Given the description of an element on the screen output the (x, y) to click on. 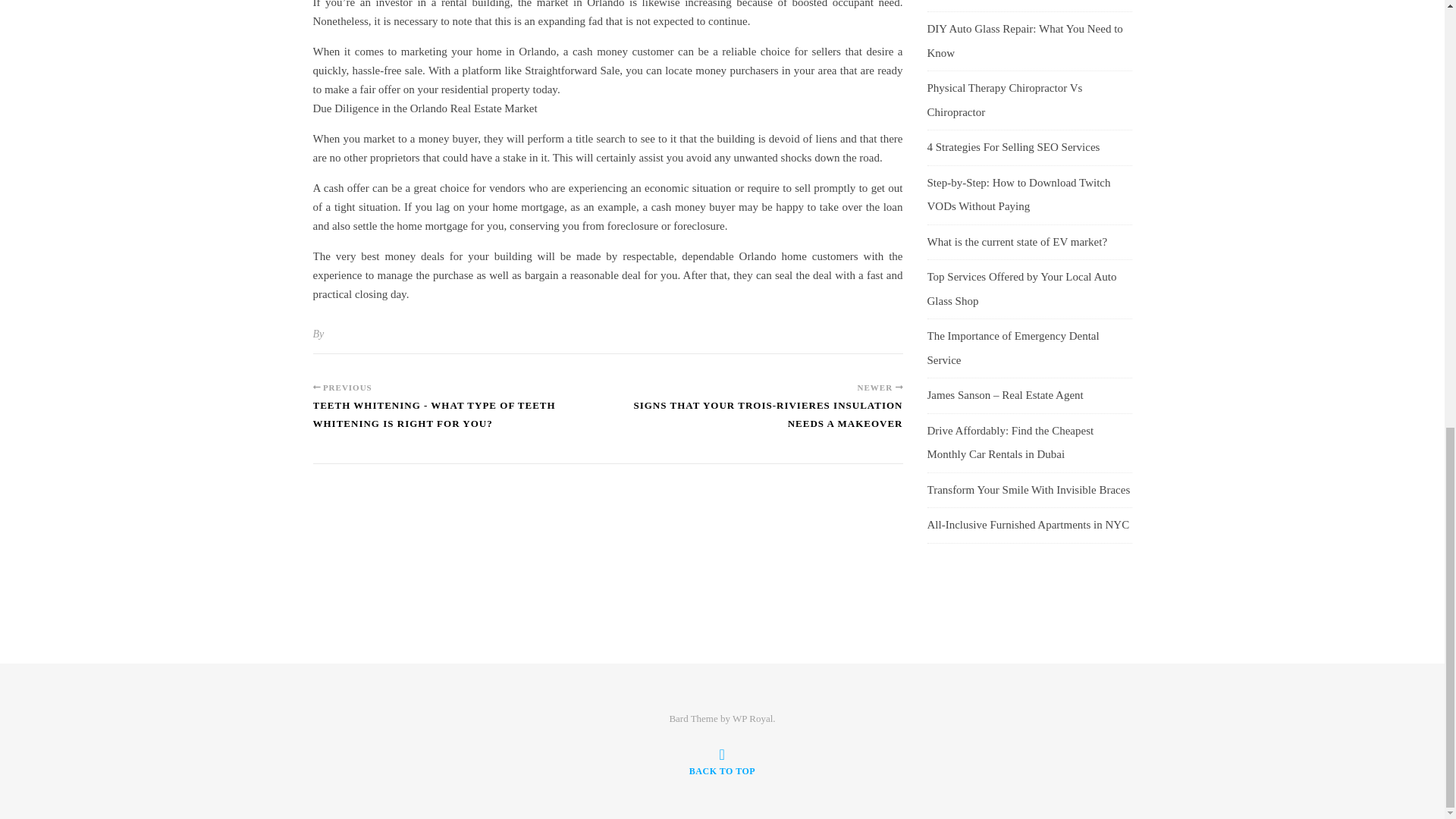
WP Royal (752, 717)
Signs That Your Trois-Rivieres Insulation Needs a Makeover (755, 421)
SIGNS THAT YOUR TROIS-RIVIERES INSULATION NEEDS A MAKEOVER (755, 421)
Step-by-Step: How to Download Twitch VODs Without Paying (1017, 194)
Top Services Offered by Your Local Auto Glass Shop (1021, 289)
BACK TO TOP (722, 761)
Transform Your Smile With Invisible Braces (1027, 490)
